Given the description of an element on the screen output the (x, y) to click on. 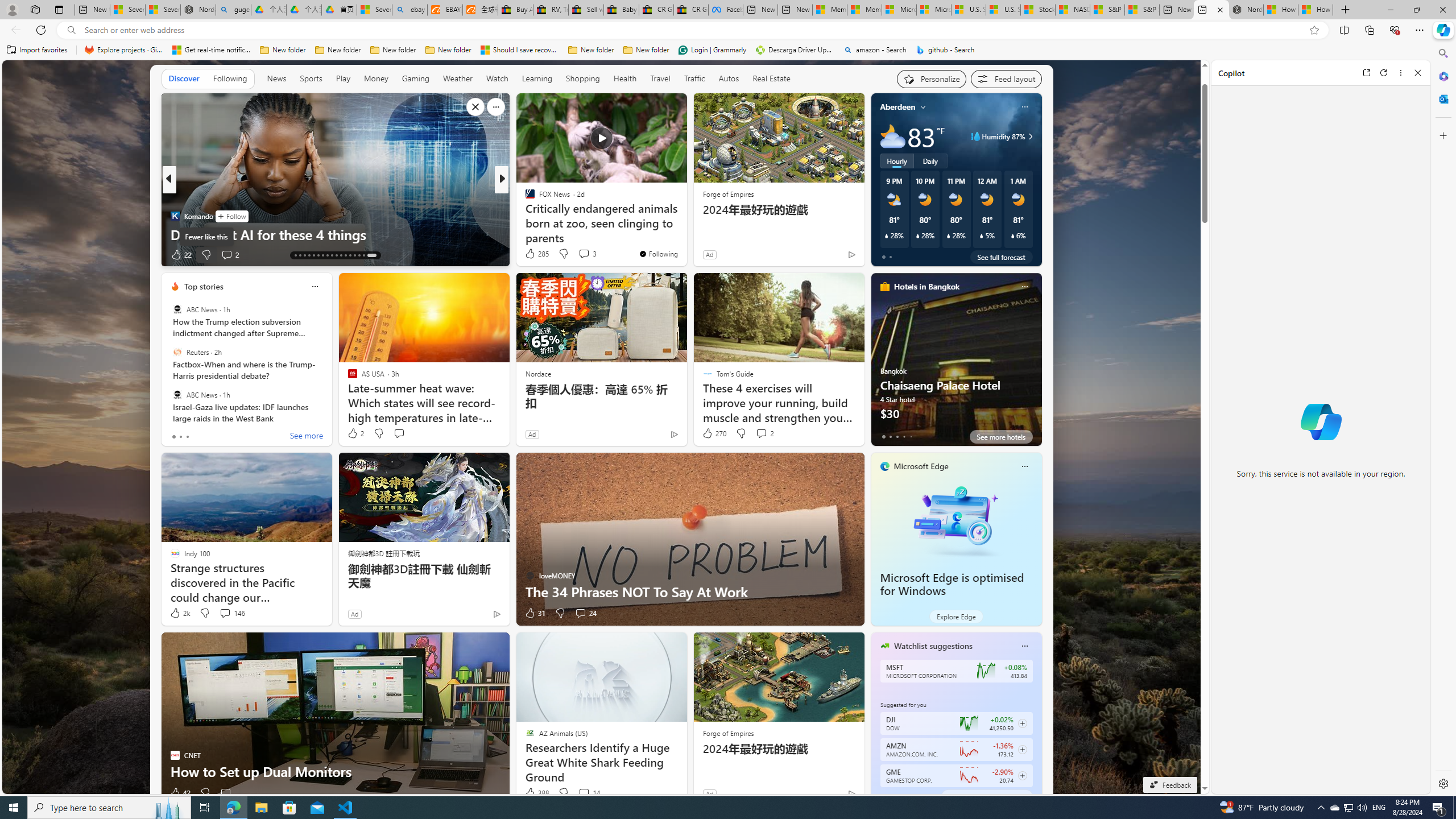
2 Like (355, 433)
View comments 14 Comment (583, 792)
View comments 24 Comment (580, 613)
AutomationID: tab-13 (295, 255)
Travel (660, 79)
Aberdeen (897, 106)
22 Like (180, 254)
Descarga Driver Updater (794, 49)
